Given the description of an element on the screen output the (x, y) to click on. 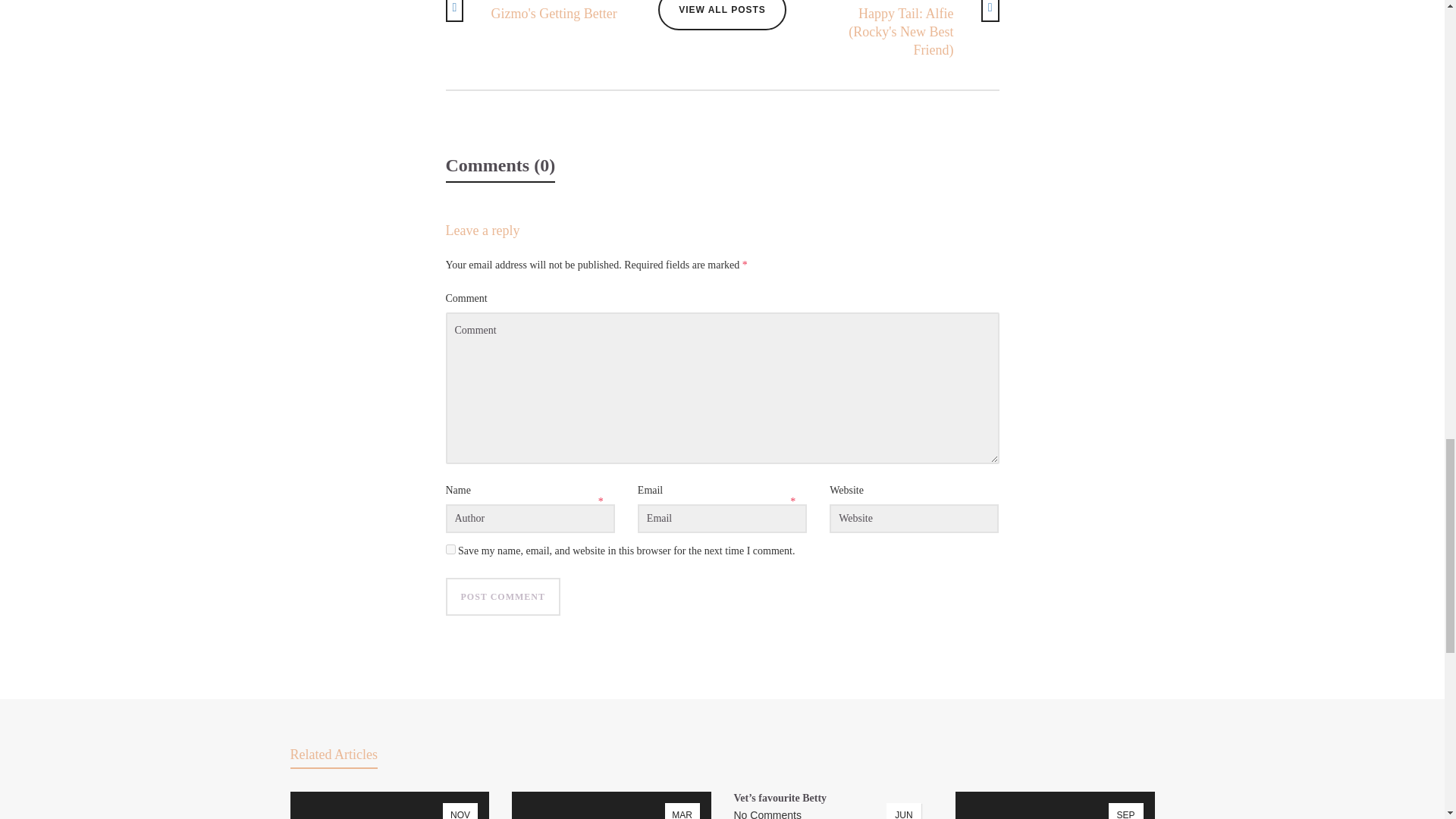
VIEW ALL POSTS (537, 11)
yes (722, 15)
Post comment (450, 549)
Post comment (502, 596)
